Given the description of an element on the screen output the (x, y) to click on. 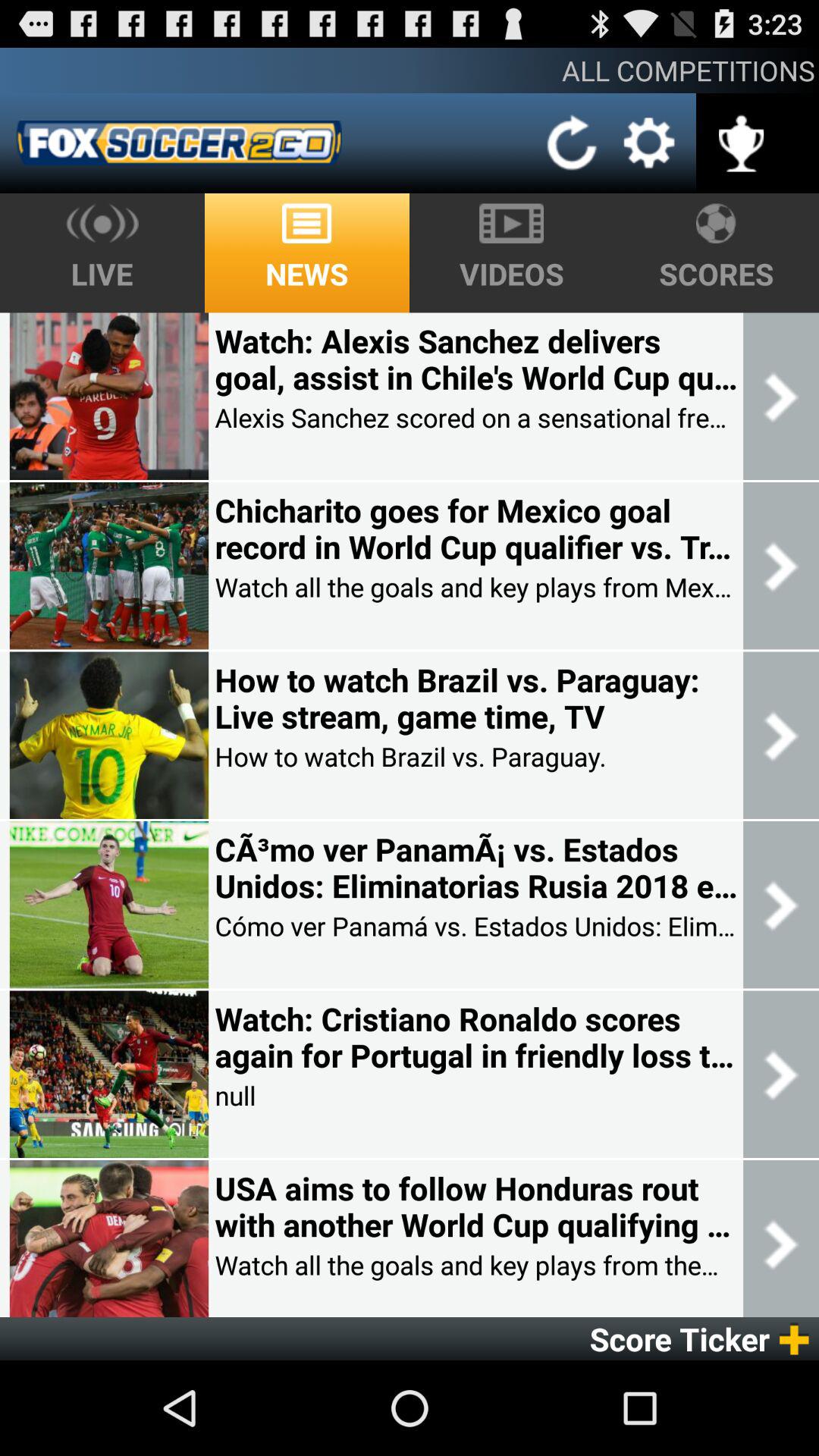
jump to usa aims to item (475, 1206)
